Given the description of an element on the screen output the (x, y) to click on. 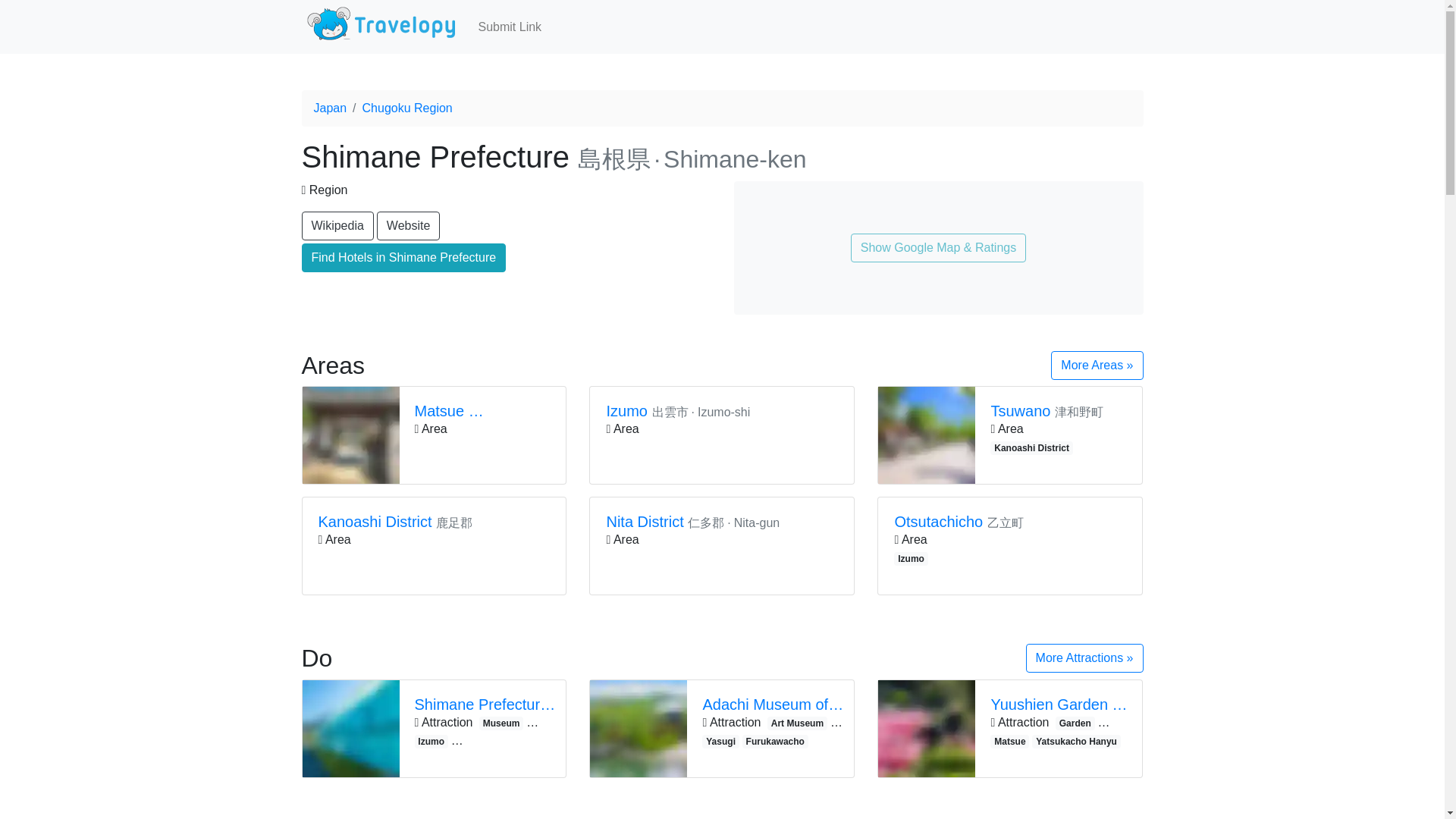
Website (409, 225)
Japan (330, 107)
Find Hotels in Shimane Prefecture (403, 257)
Advertisement (1009, 804)
Submit Link (509, 27)
Shimane Prefecture Ancient Izumo History Museum (485, 704)
Chugoku Region (407, 107)
Adachi Museum of Art (773, 704)
Wikipedia (337, 225)
